Given the description of an element on the screen output the (x, y) to click on. 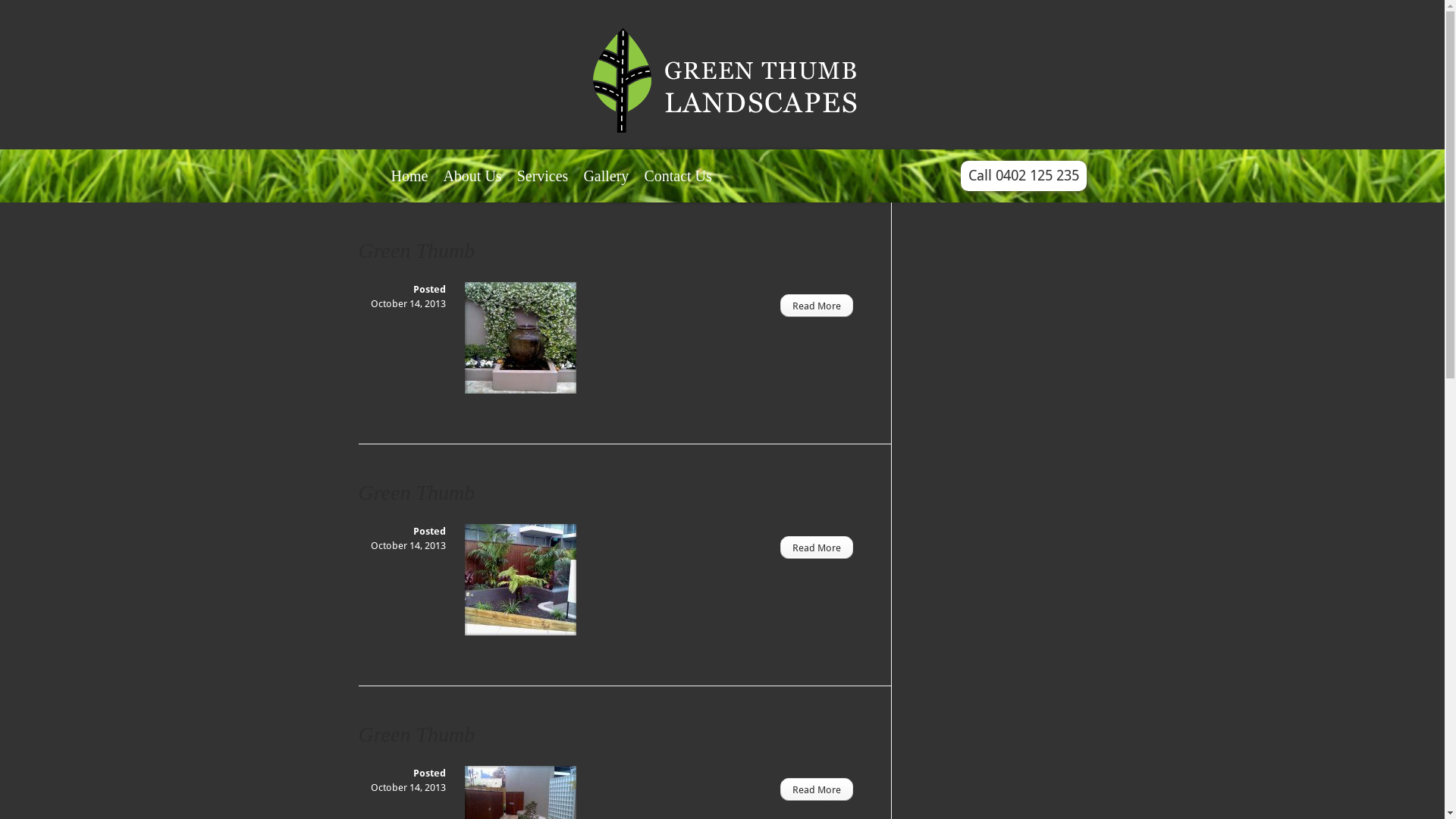
Read More Element type: text (815, 305)
About Us Element type: text (471, 185)
Green Thumb Element type: text (415, 492)
Read More Element type: text (815, 547)
Gallery Element type: text (605, 185)
Read More Element type: text (815, 789)
Green Thumb Element type: text (415, 734)
Services Element type: text (542, 185)
Home Element type: text (409, 185)
Contact Us Element type: text (677, 185)
Green Thumb Element type: text (415, 250)
